Given the description of an element on the screen output the (x, y) to click on. 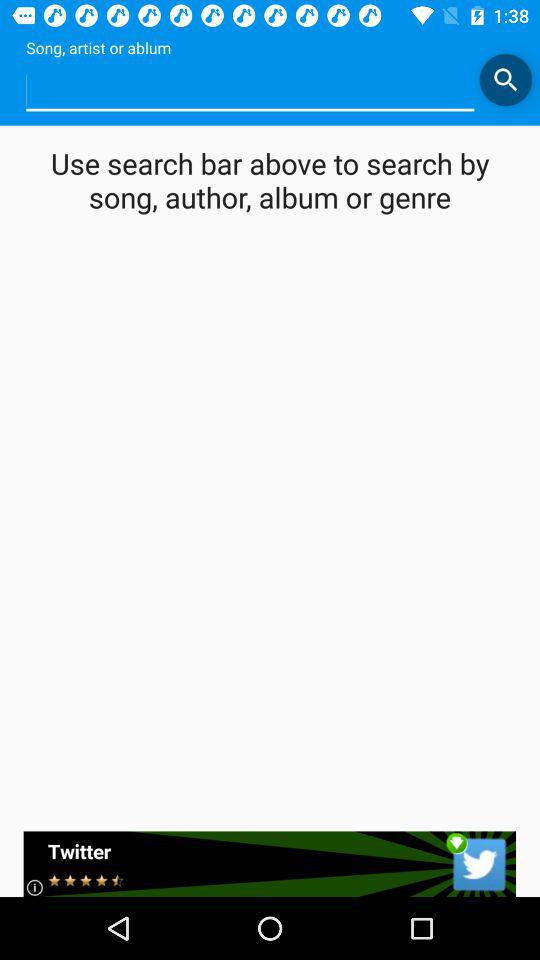
search (505, 79)
